Given the description of an element on the screen output the (x, y) to click on. 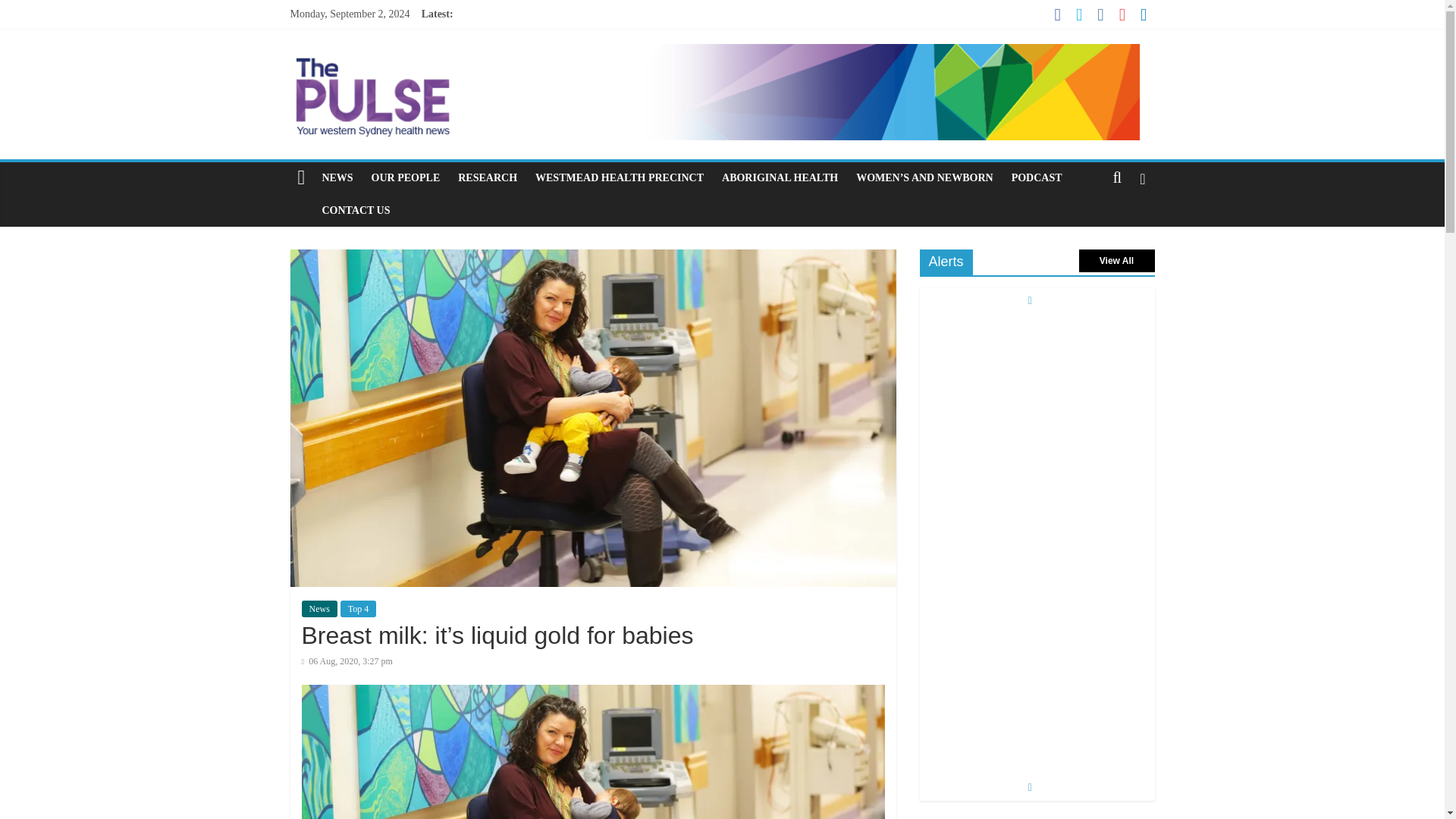
PODCAST (1037, 178)
OUR PEOPLE (405, 178)
06 Aug, 2020, 3:27 pm (347, 661)
RESEARCH (486, 178)
Top 4 (358, 608)
WESTMEAD HEALTH PRECINCT (619, 178)
News (319, 608)
NEWS (337, 178)
CONTACT US (355, 210)
ABORIGINAL HEALTH (780, 178)
